Given the description of an element on the screen output the (x, y) to click on. 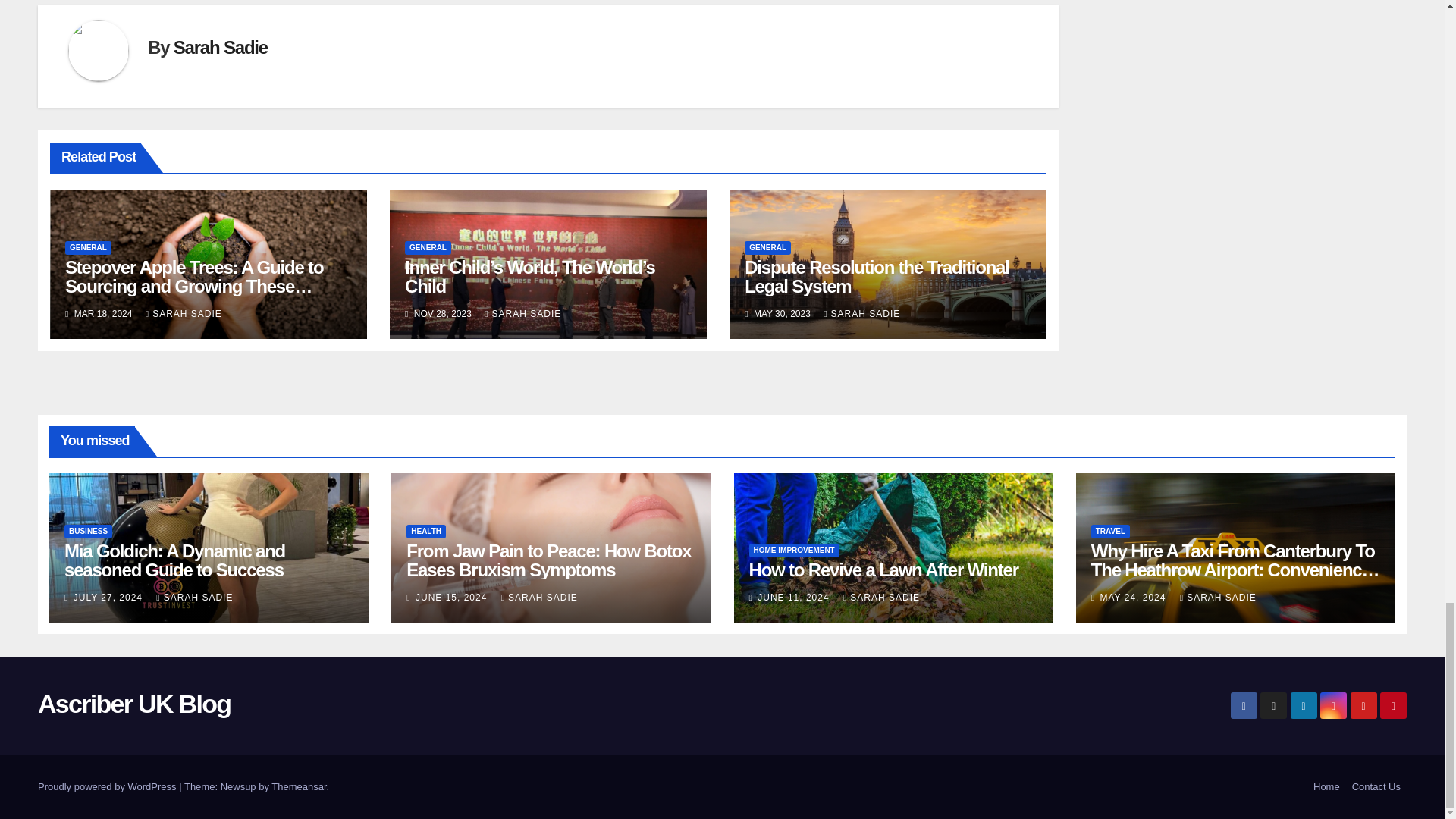
GENERAL (88, 247)
SARAH SADIE (183, 313)
Sarah Sadie (220, 46)
